Given the description of an element on the screen output the (x, y) to click on. 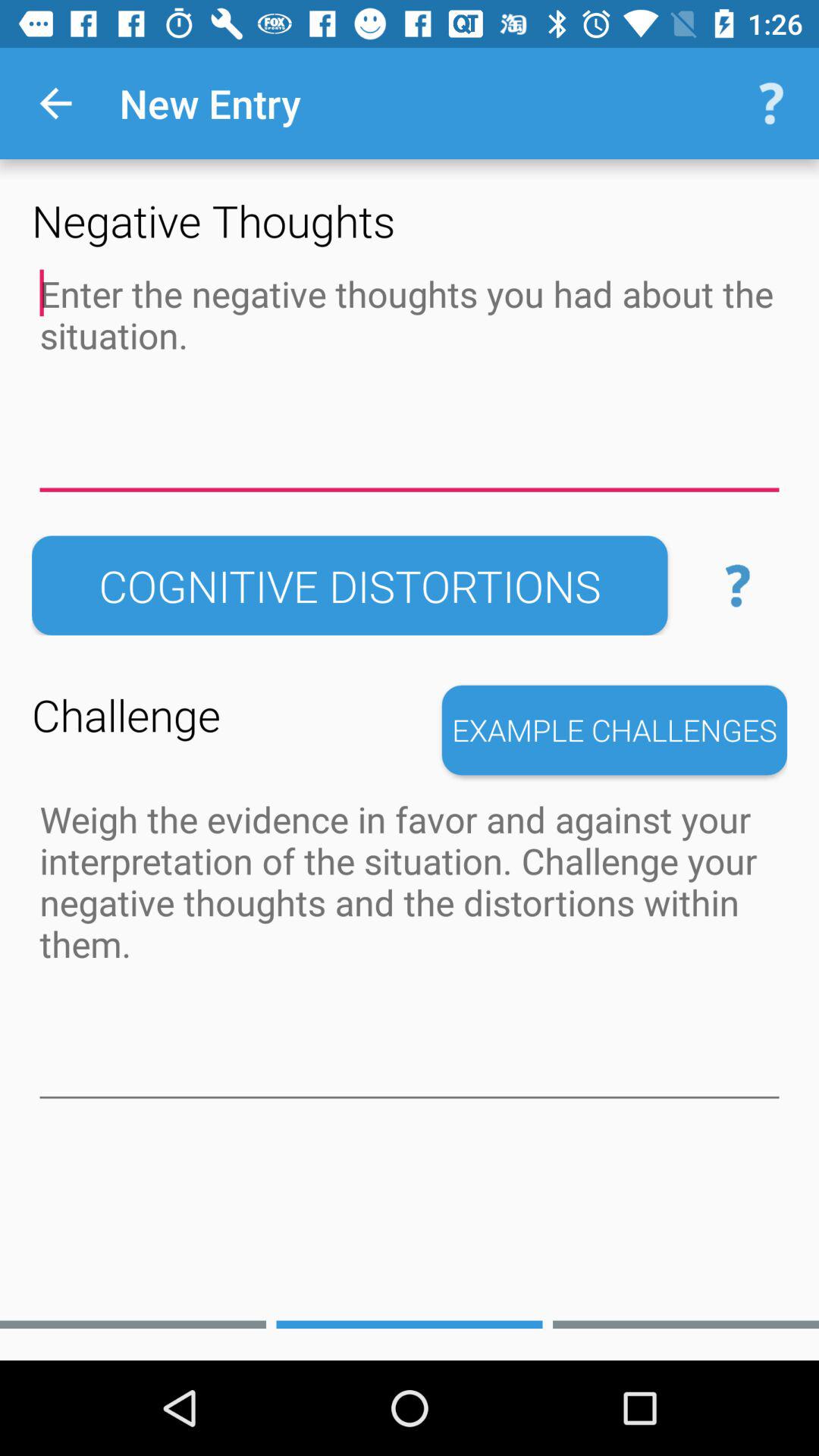
press the item above the challenge (349, 585)
